Given the description of an element on the screen output the (x, y) to click on. 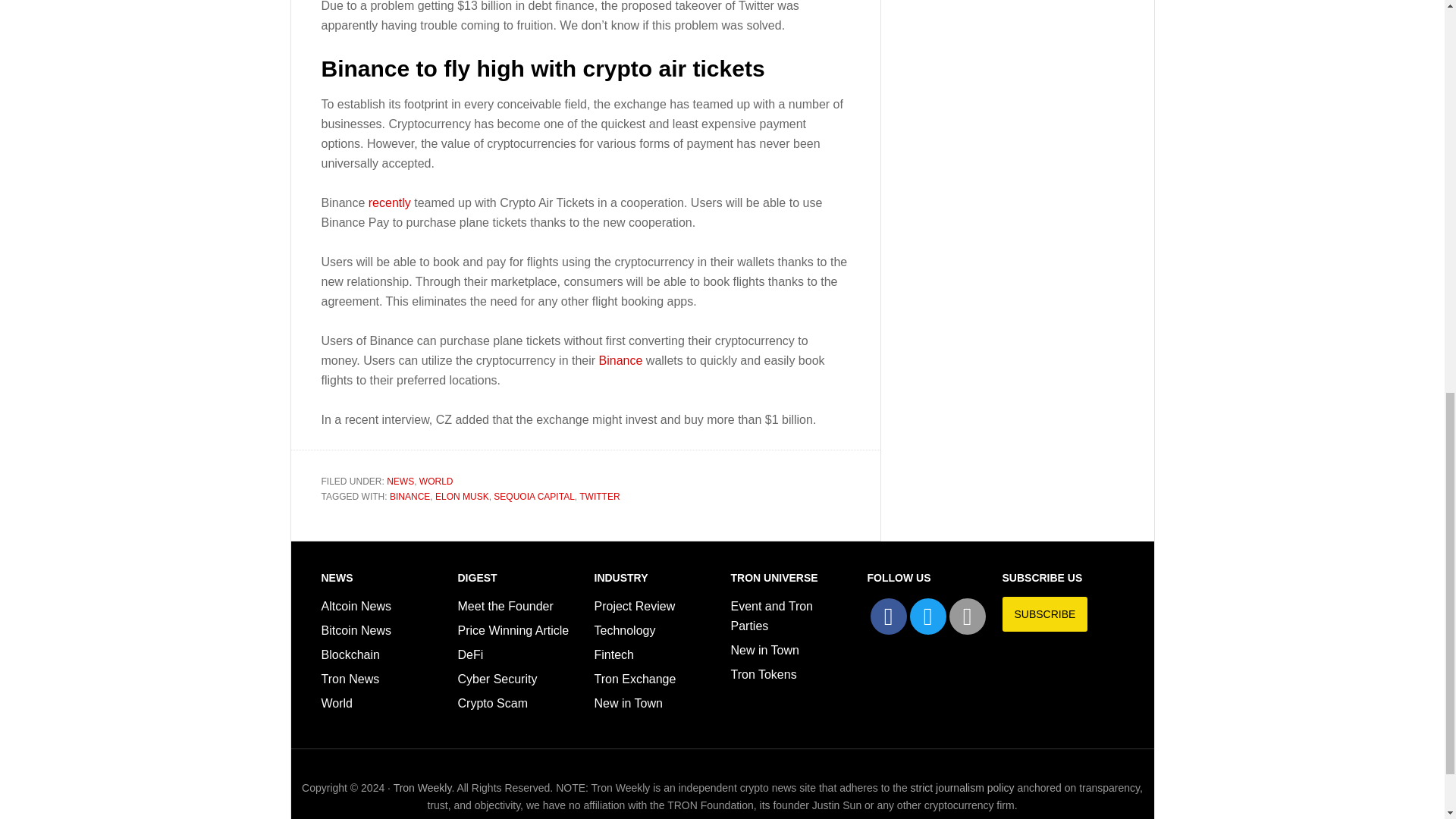
ELON MUSK (462, 496)
BINANCE (409, 496)
NEWS (400, 480)
Twitter (928, 616)
WORLD (435, 480)
Telegram (967, 616)
Binance (620, 359)
Facebook (888, 616)
TWITTER (599, 496)
recently (389, 202)
